Given the description of an element on the screen output the (x, y) to click on. 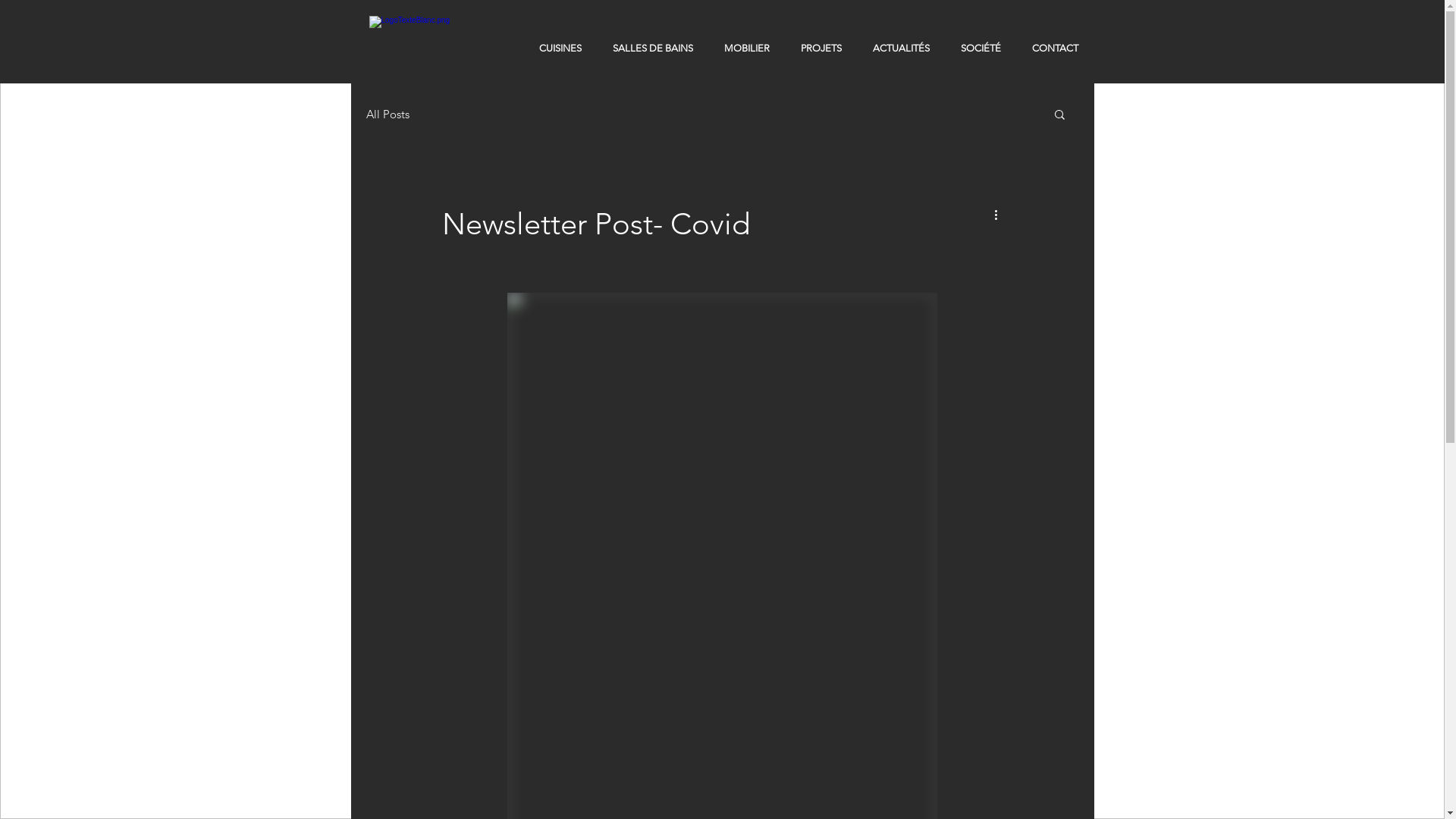
CUISINES Element type: text (559, 48)
All Posts Element type: text (386, 113)
MOBILIER Element type: text (746, 48)
CONTACT Element type: text (1054, 48)
PROJETS Element type: text (821, 48)
SALLES DE BAINS Element type: text (653, 48)
